Given the description of an element on the screen output the (x, y) to click on. 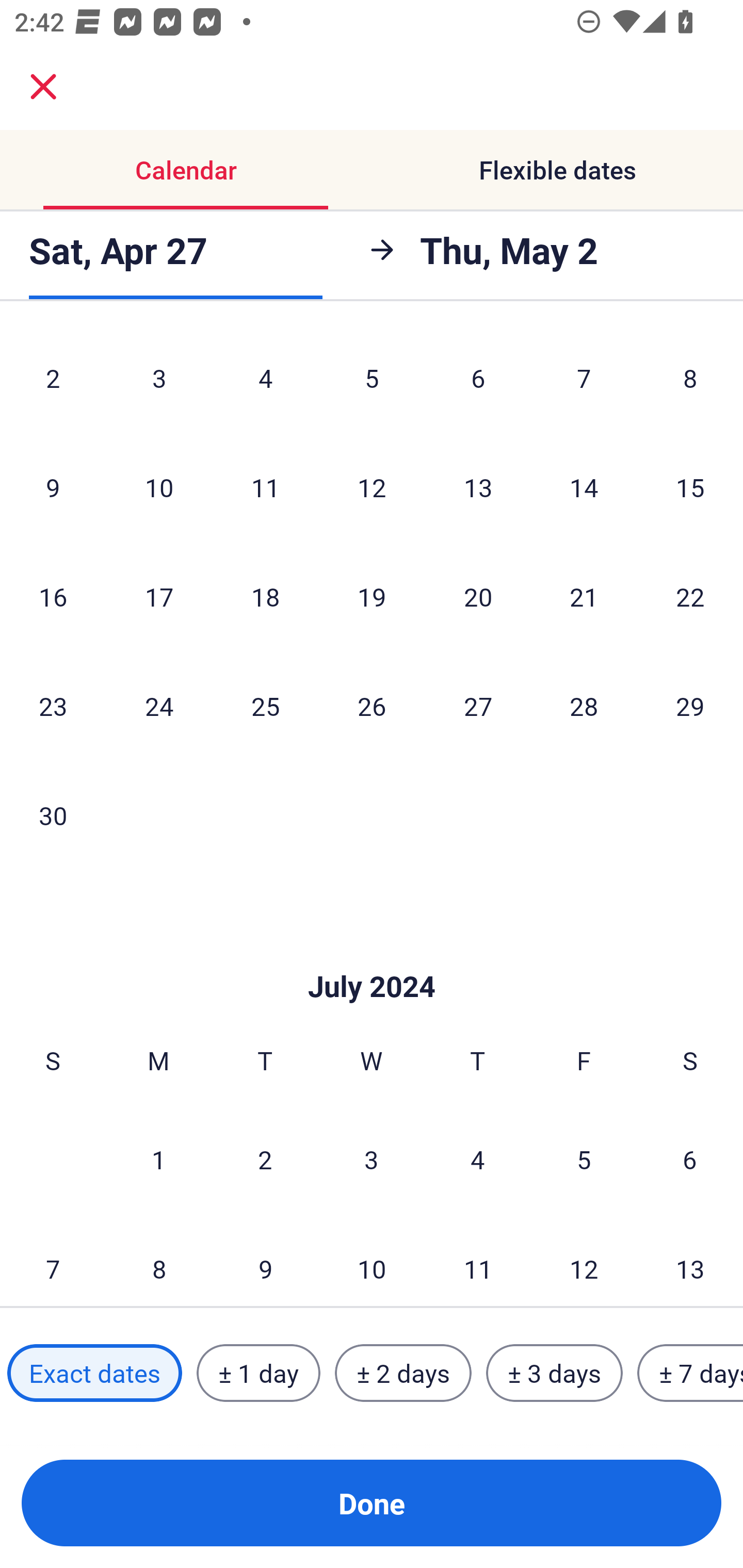
close. (43, 86)
Flexible dates (557, 170)
2 Sunday, June 2, 2024 (53, 380)
3 Monday, June 3, 2024 (159, 380)
4 Tuesday, June 4, 2024 (265, 380)
5 Wednesday, June 5, 2024 (371, 380)
6 Thursday, June 6, 2024 (477, 380)
7 Friday, June 7, 2024 (584, 380)
8 Saturday, June 8, 2024 (690, 380)
9 Sunday, June 9, 2024 (53, 486)
10 Monday, June 10, 2024 (159, 486)
11 Tuesday, June 11, 2024 (265, 486)
12 Wednesday, June 12, 2024 (371, 486)
13 Thursday, June 13, 2024 (477, 486)
14 Friday, June 14, 2024 (584, 486)
15 Saturday, June 15, 2024 (690, 486)
16 Sunday, June 16, 2024 (53, 596)
17 Monday, June 17, 2024 (159, 596)
18 Tuesday, June 18, 2024 (265, 596)
19 Wednesday, June 19, 2024 (371, 596)
20 Thursday, June 20, 2024 (477, 596)
21 Friday, June 21, 2024 (584, 596)
22 Saturday, June 22, 2024 (690, 596)
23 Sunday, June 23, 2024 (53, 705)
24 Monday, June 24, 2024 (159, 705)
25 Tuesday, June 25, 2024 (265, 705)
26 Wednesday, June 26, 2024 (371, 705)
27 Thursday, June 27, 2024 (477, 705)
28 Friday, June 28, 2024 (584, 705)
29 Saturday, June 29, 2024 (690, 705)
30 Sunday, June 30, 2024 (53, 815)
Skip to Done (371, 955)
1 Monday, July 1, 2024 (158, 1159)
2 Tuesday, July 2, 2024 (264, 1159)
3 Wednesday, July 3, 2024 (371, 1159)
4 Thursday, July 4, 2024 (477, 1159)
5 Friday, July 5, 2024 (583, 1159)
6 Saturday, July 6, 2024 (689, 1159)
7 Sunday, July 7, 2024 (53, 1260)
8 Monday, July 8, 2024 (159, 1260)
9 Tuesday, July 9, 2024 (265, 1260)
10 Wednesday, July 10, 2024 (371, 1260)
11 Thursday, July 11, 2024 (477, 1260)
12 Friday, July 12, 2024 (584, 1260)
13 Saturday, July 13, 2024 (690, 1260)
Exact dates (94, 1372)
± 1 day (258, 1372)
± 2 days (403, 1372)
± 3 days (553, 1372)
± 7 days (690, 1372)
Done (371, 1502)
